Given the description of an element on the screen output the (x, y) to click on. 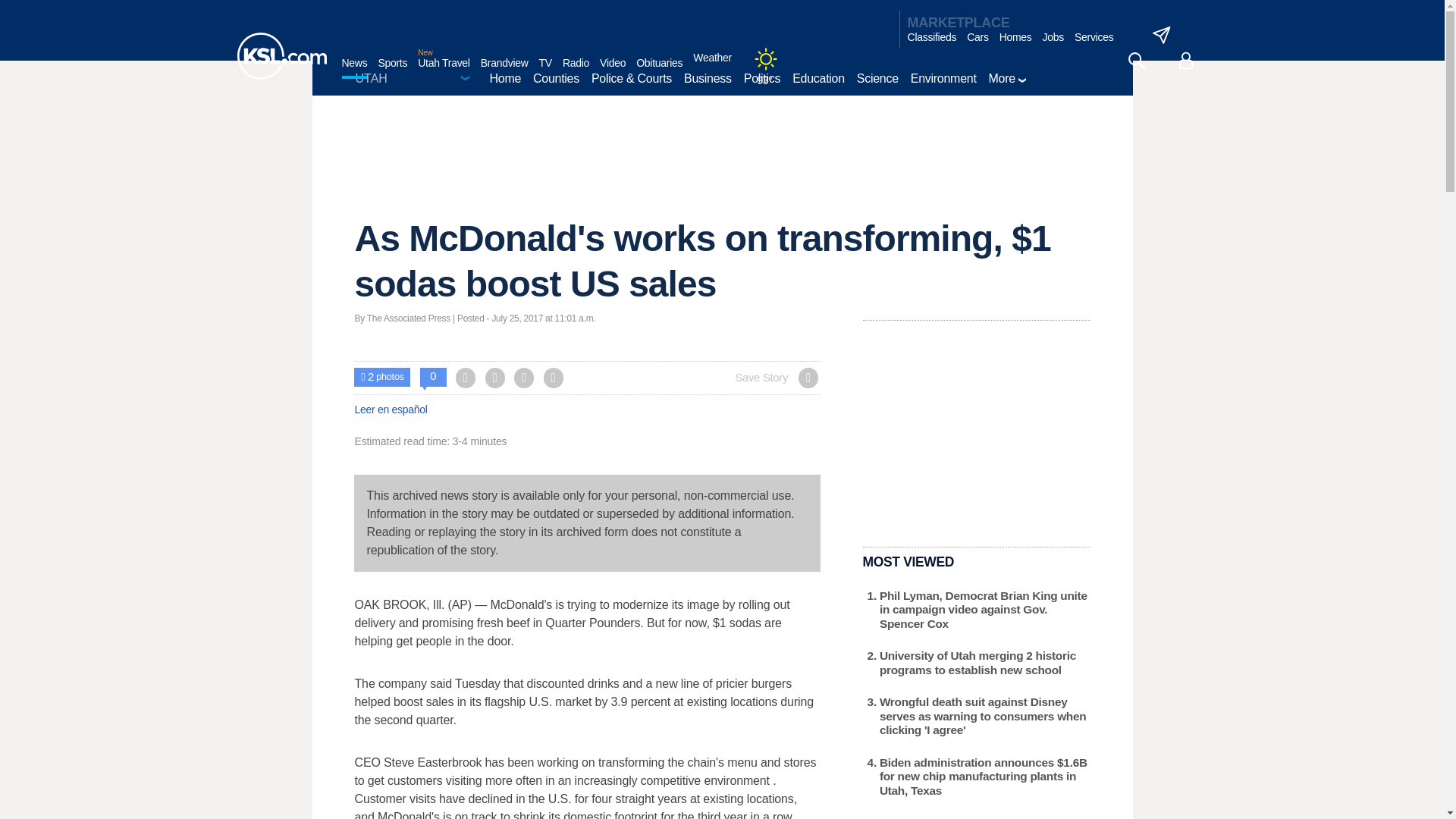
search (1135, 60)
KSL homepage (280, 55)
account - logged out (1185, 60)
